Given the description of an element on the screen output the (x, y) to click on. 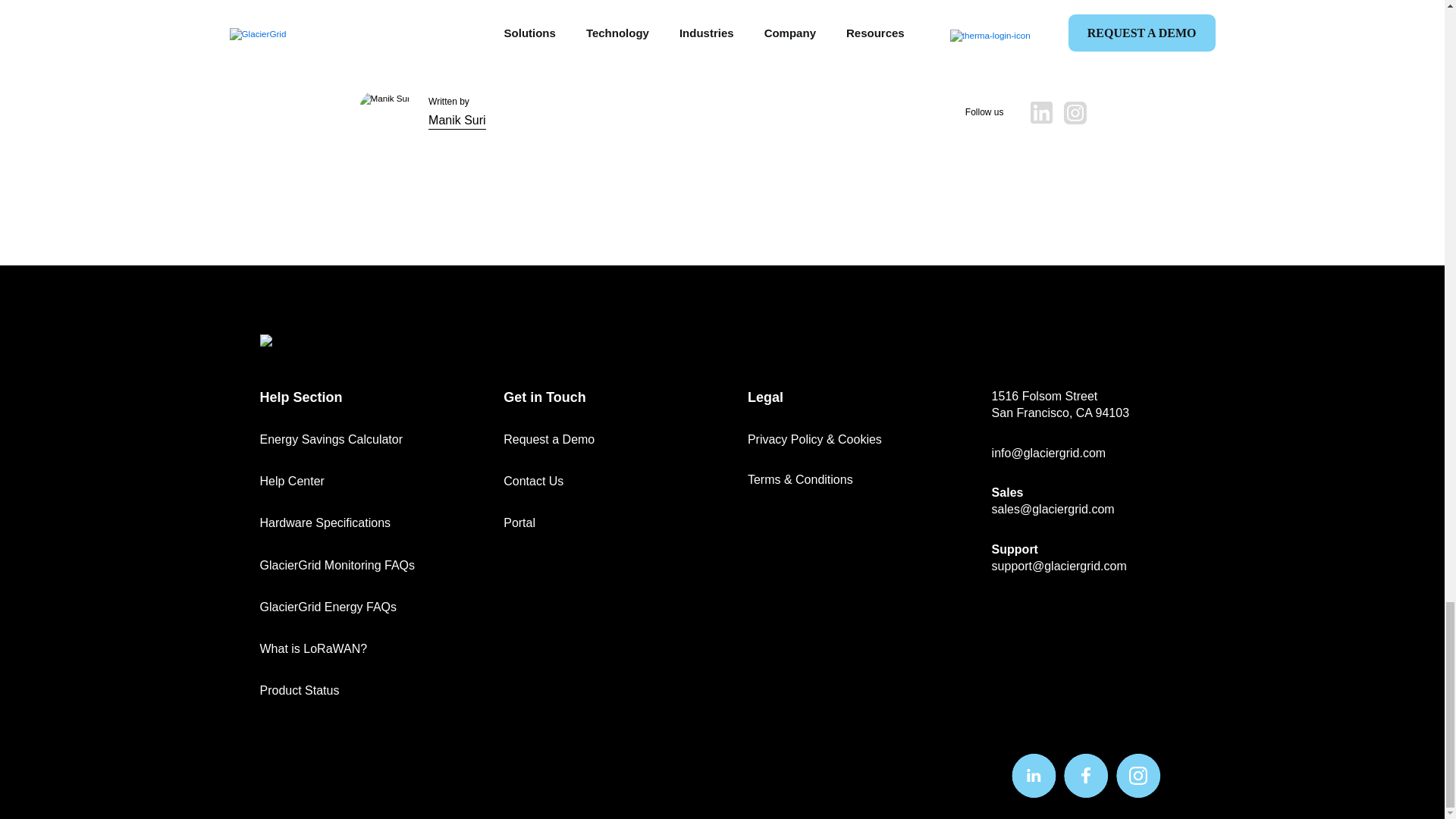
glaciergrid-primary-white (313, 340)
